Given the description of an element on the screen output the (x, y) to click on. 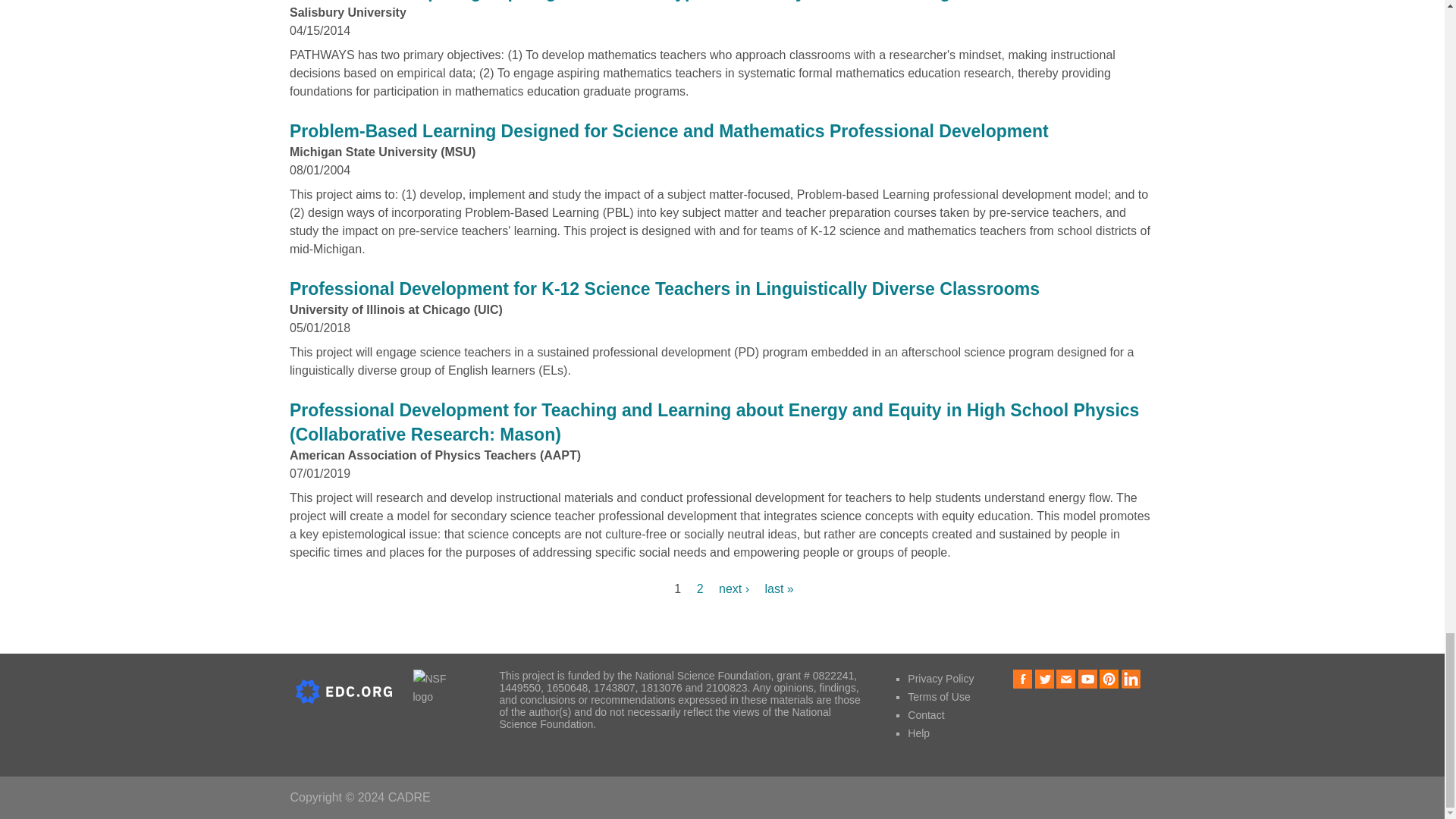
Current page (677, 588)
Go to page 2 (700, 588)
Go to last page (778, 588)
Go to next page (735, 588)
